Given the description of an element on the screen output the (x, y) to click on. 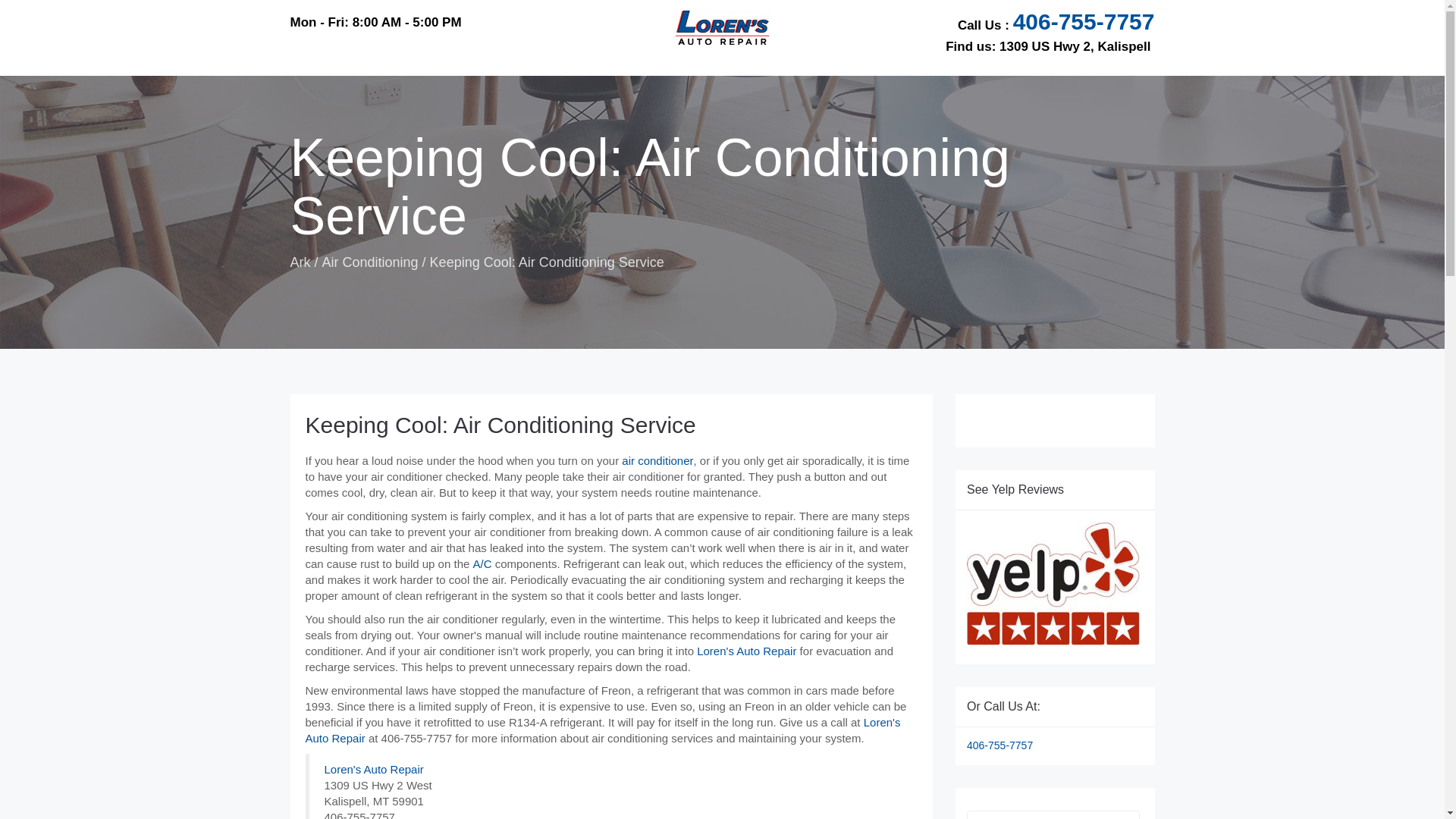
1309 US Hwy 2, Kalispell (1074, 46)
Schedule an Appointment (601, 729)
406-755-7757 (1083, 21)
Air Conditioning Services (481, 563)
Loren's Auto Repair (373, 768)
Schedule an Appointment (746, 650)
